Given the description of an element on the screen output the (x, y) to click on. 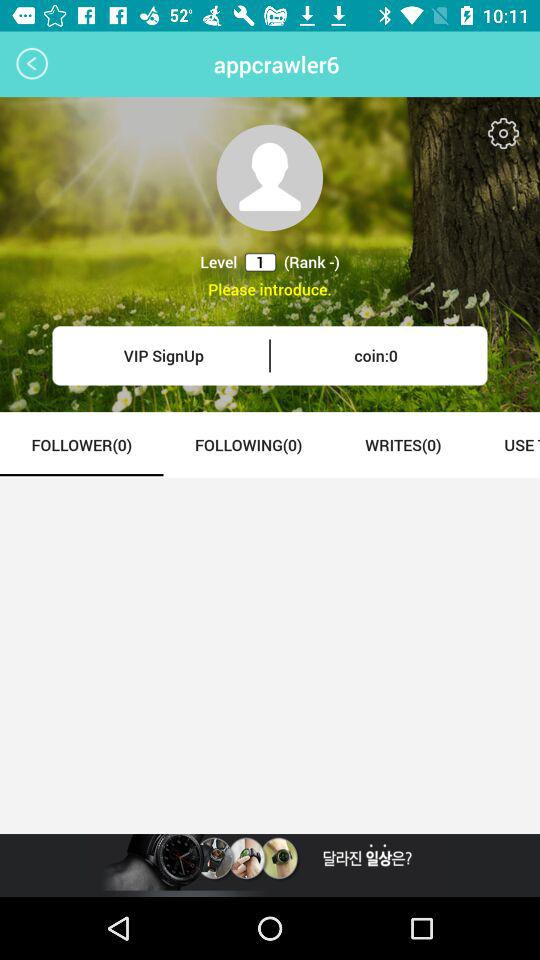
open item next to the following(0) item (81, 444)
